Given the description of an element on the screen output the (x, y) to click on. 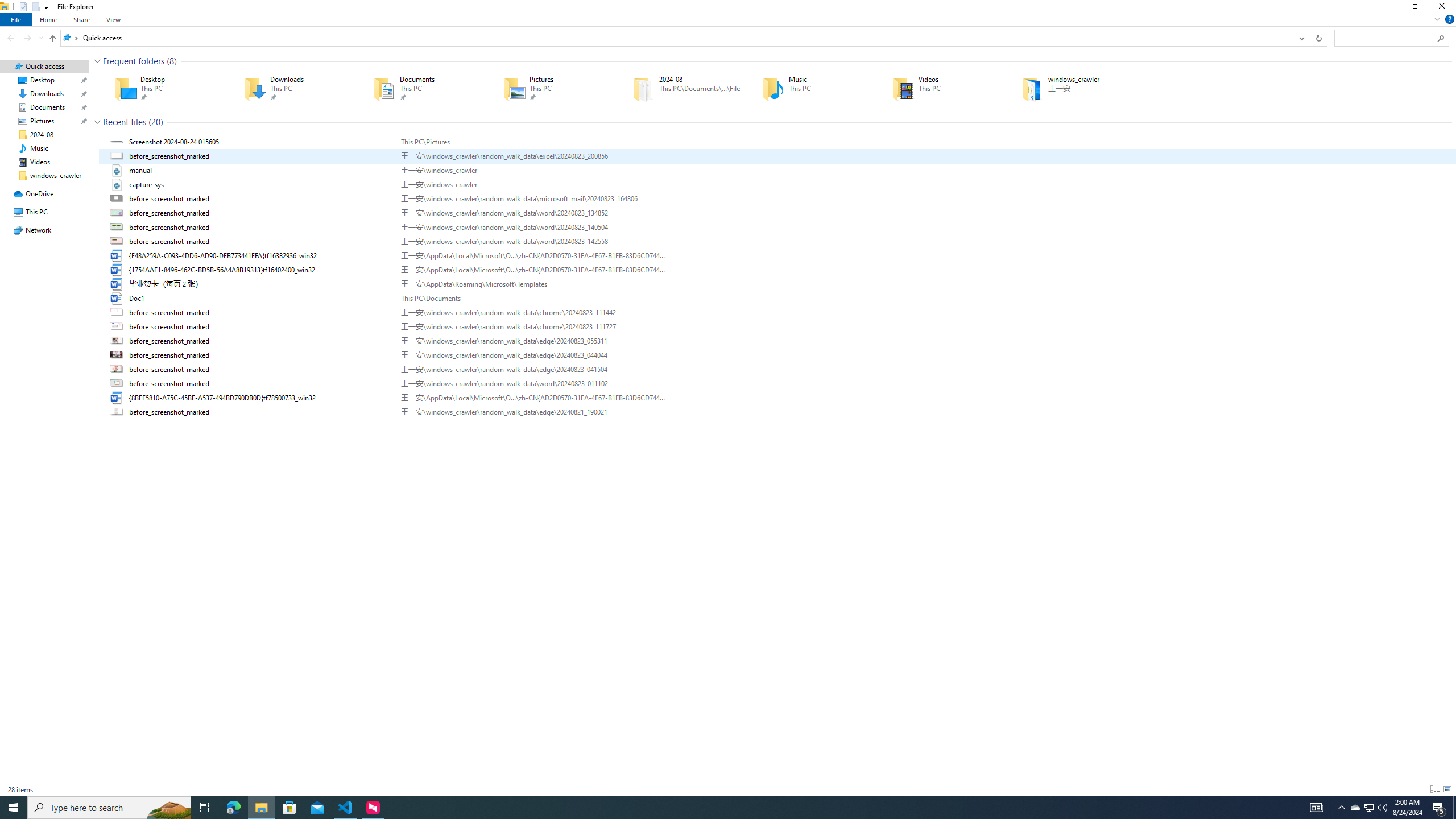
Quick access (101, 37)
Minimize the Ribbon (1436, 19)
Restore (1415, 8)
File tab (16, 19)
Details (1434, 789)
Class: UIImage (117, 411)
Back (Alt + Left Arrow) (10, 37)
